Given the description of an element on the screen output the (x, y) to click on. 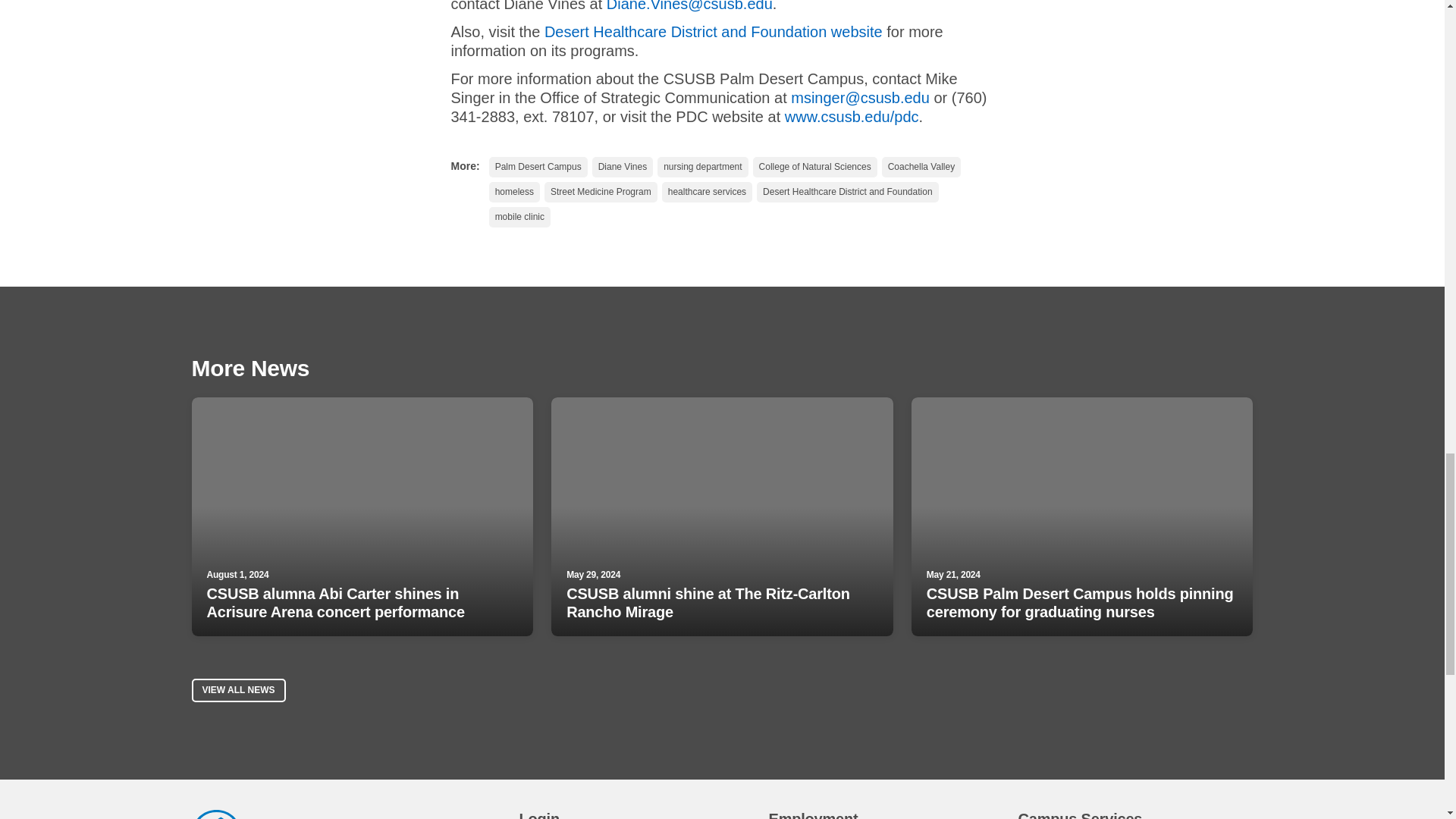
CSUSB (215, 814)
